Given the description of an element on the screen output the (x, y) to click on. 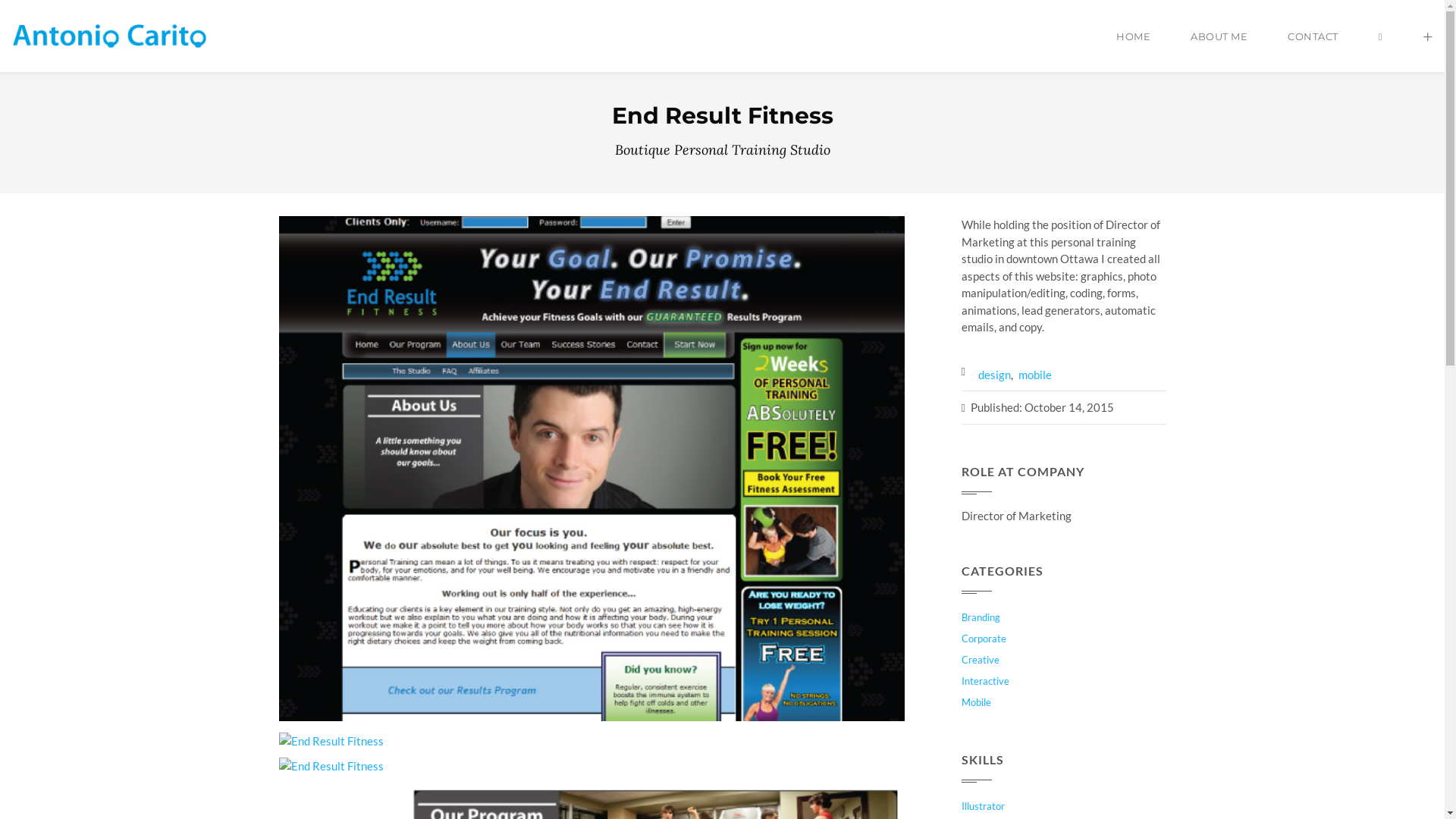
design Element type: text (994, 374)
Mobile Element type: text (1063, 701)
Branding Element type: text (1063, 616)
mobile Element type: text (1034, 374)
Creative Element type: text (1063, 659)
CONTACT Element type: text (1312, 48)
Interactive Element type: text (1063, 680)
Corporate Element type: text (1063, 638)
ABOUT ME Element type: text (1218, 48)
HOME Element type: text (1133, 48)
Illustrator Element type: text (1063, 805)
